Given the description of an element on the screen output the (x, y) to click on. 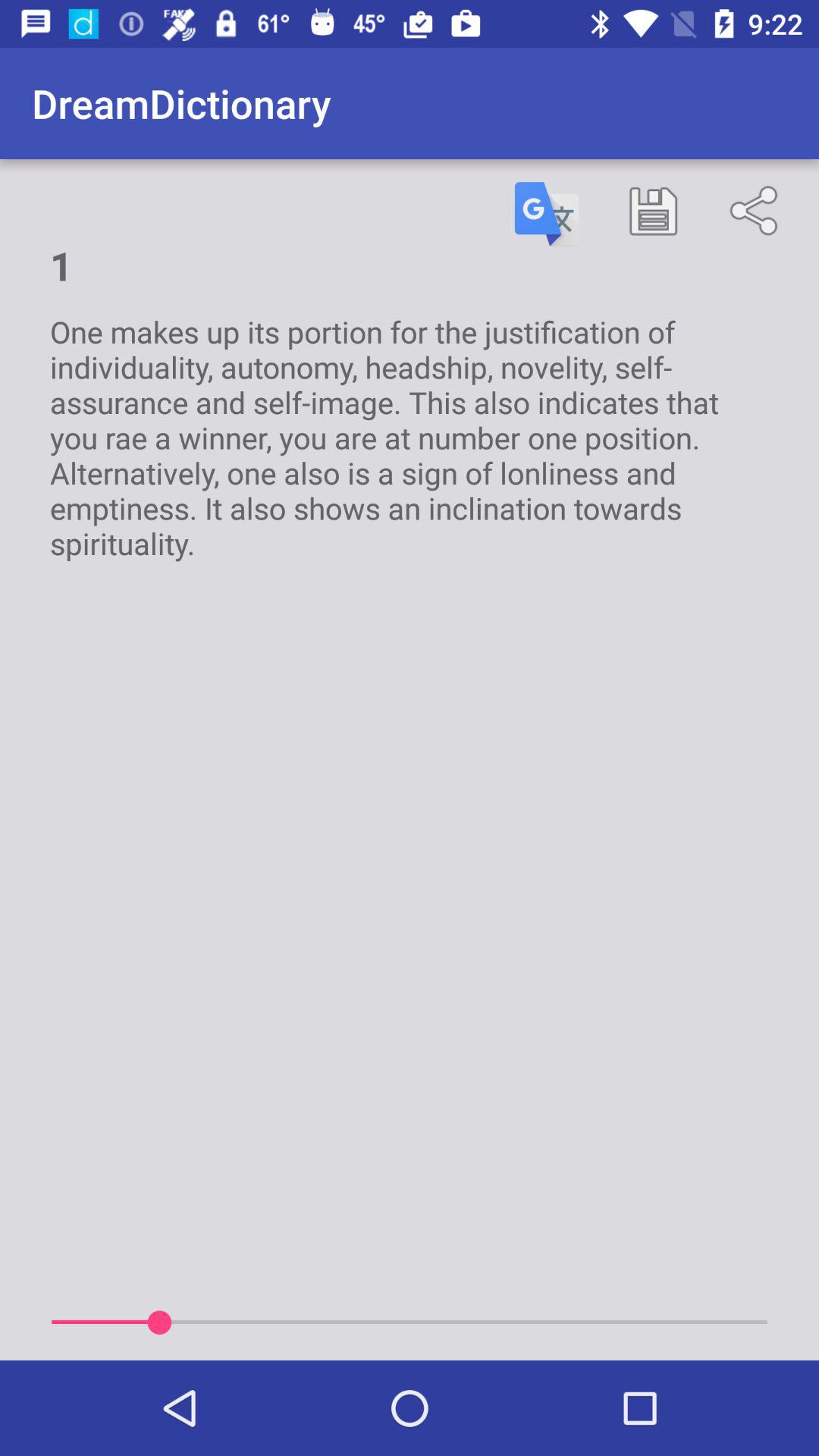
press the item to the right of the 1 item (546, 214)
